Given the description of an element on the screen output the (x, y) to click on. 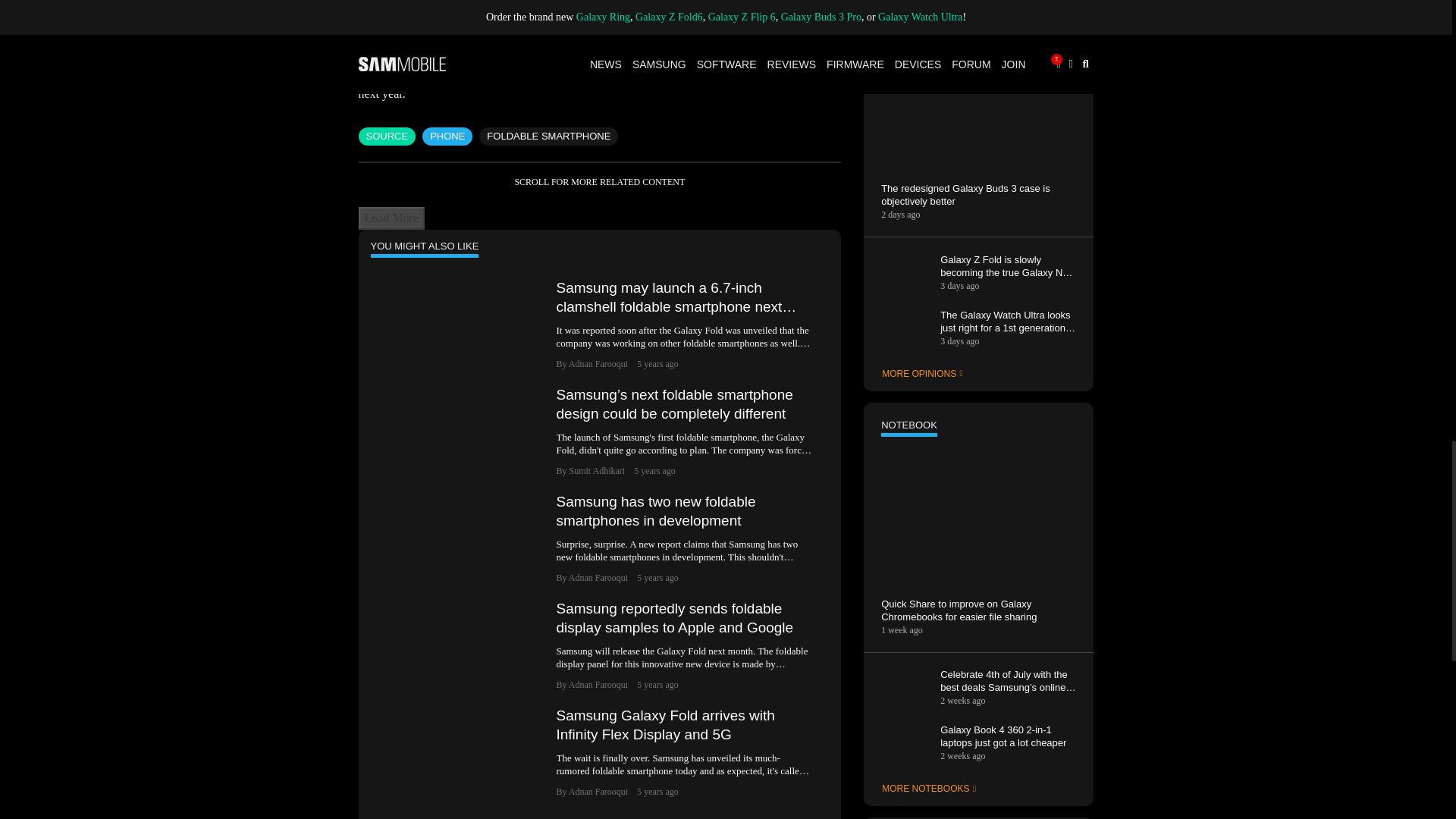
SCROLL FOR MORE RELATED CONTENT (599, 182)
